Given the description of an element on the screen output the (x, y) to click on. 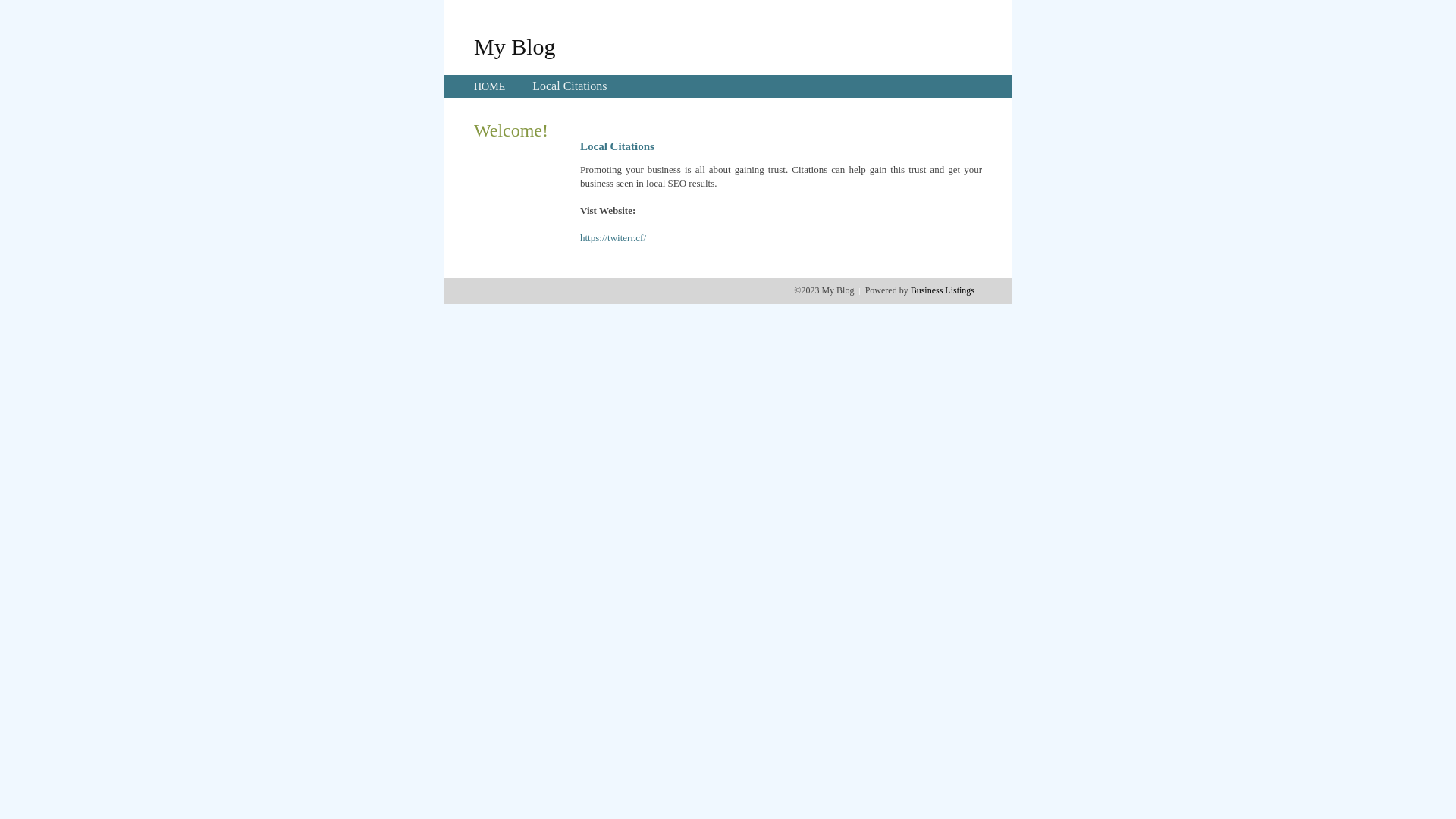
HOME Element type: text (489, 86)
My Blog Element type: text (514, 46)
https://twiterr.cf/ Element type: text (613, 237)
Business Listings Element type: text (942, 290)
Local Citations Element type: text (569, 85)
